Given the description of an element on the screen output the (x, y) to click on. 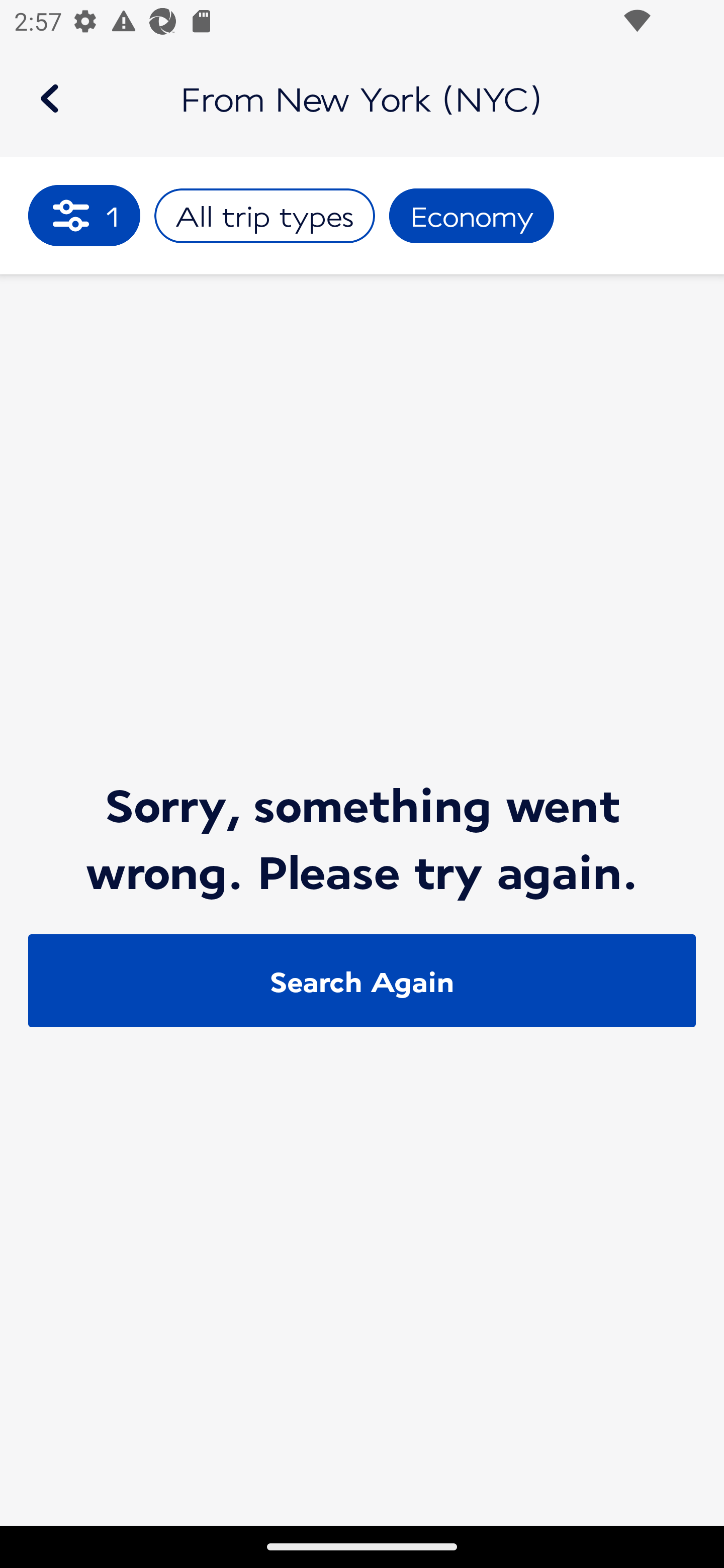
leading 1 (84, 215)
All trip types (264, 216)
Economy (471, 216)
Search Again (361, 980)
